Given the description of an element on the screen output the (x, y) to click on. 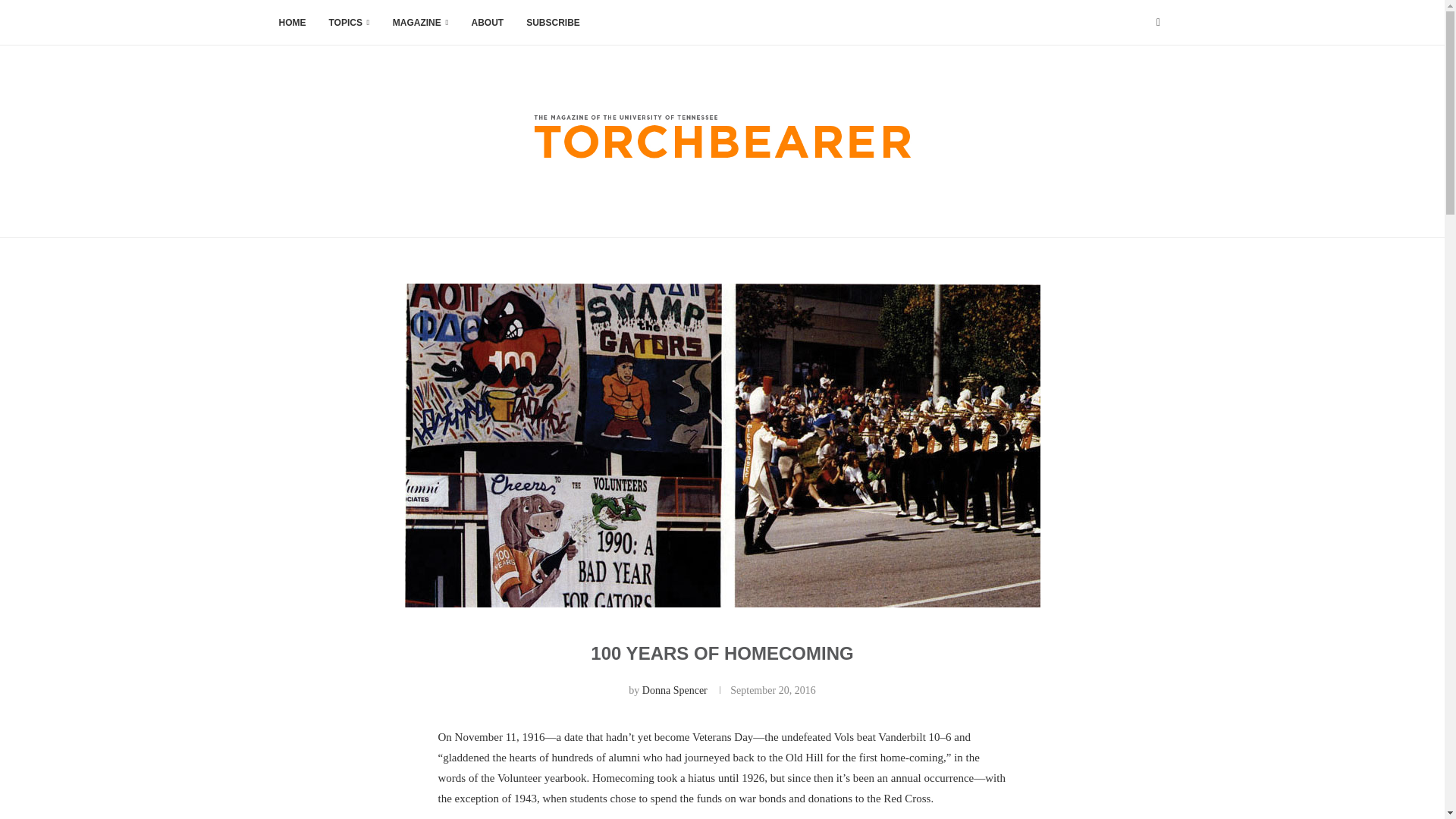
TOPICS (349, 22)
